Given the description of an element on the screen output the (x, y) to click on. 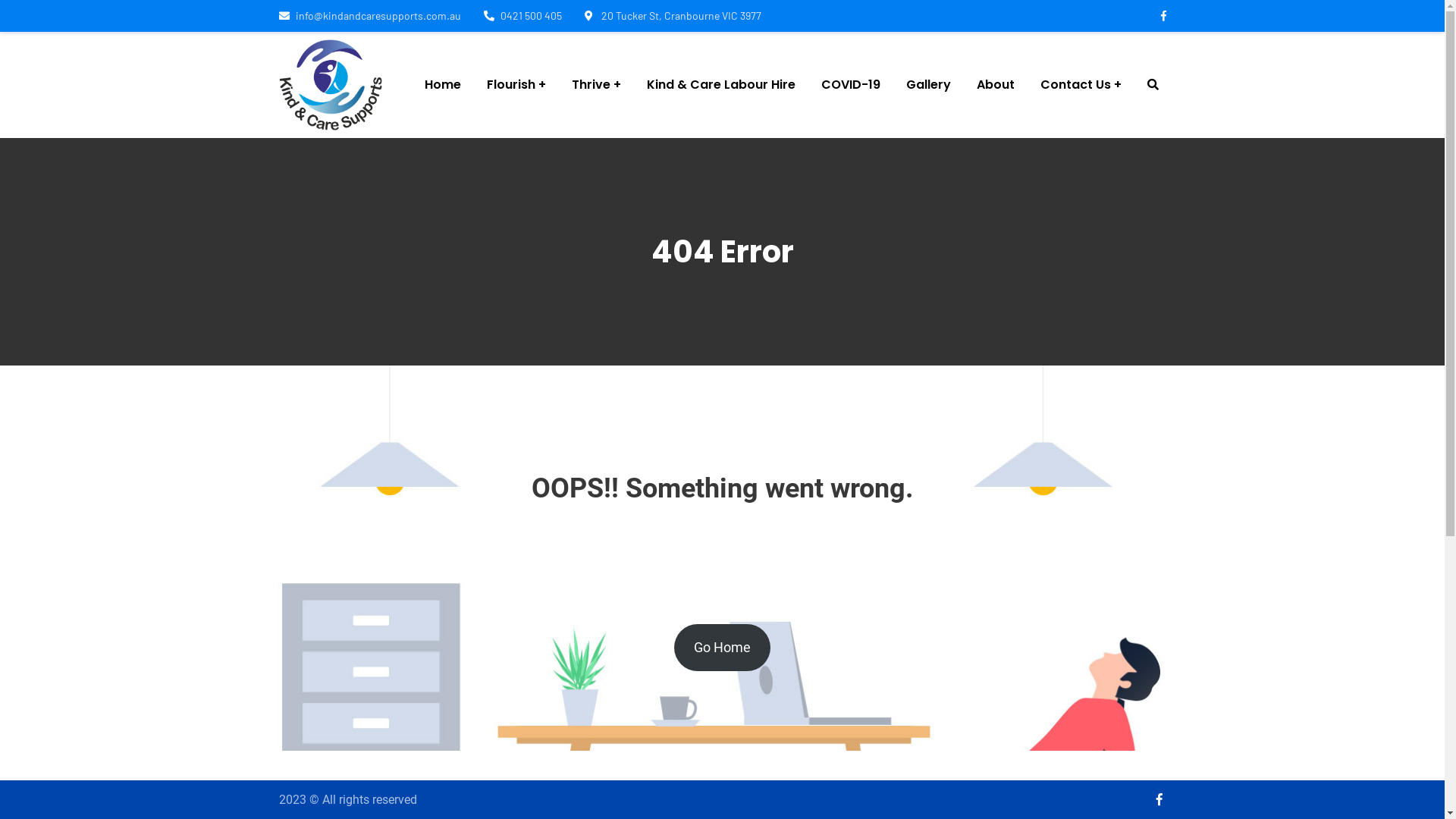
Home Element type: text (442, 84)
COVID-19 Element type: text (850, 84)
Gallery Element type: text (928, 84)
Public Advocate Element type: text (630, 607)
Kind & Care Labour Hire Element type: text (720, 84)
0421 500 405 Element type: text (339, 487)
About Element type: text (995, 84)
Flourish Element type: text (516, 84)
Human Rights Element type: text (624, 547)
0421 500 405 Element type: text (522, 15)
info@kindandcaresupports.com.au Element type: text (397, 513)
Kind and Care Supports Element type: hover (330, 83)
Thrive Element type: text (596, 84)
20 Tucker St, Cranbourne VIC 3977 Element type: text (671, 15)
Understanding NDIS Element type: text (638, 516)
Go Home Element type: text (722, 647)
20 Tucker St, Cranbourne VIC 3977 Element type: text (393, 539)
Contact Us Element type: text (1080, 84)
NDIS Price Guide Element type: text (630, 486)
info@kindandcaresupports.com.au Element type: text (370, 15)
NDIS Element type: text (598, 456)
Staff eLearning Element type: text (627, 638)
Human Services Element type: text (630, 577)
